Given the description of an element on the screen output the (x, y) to click on. 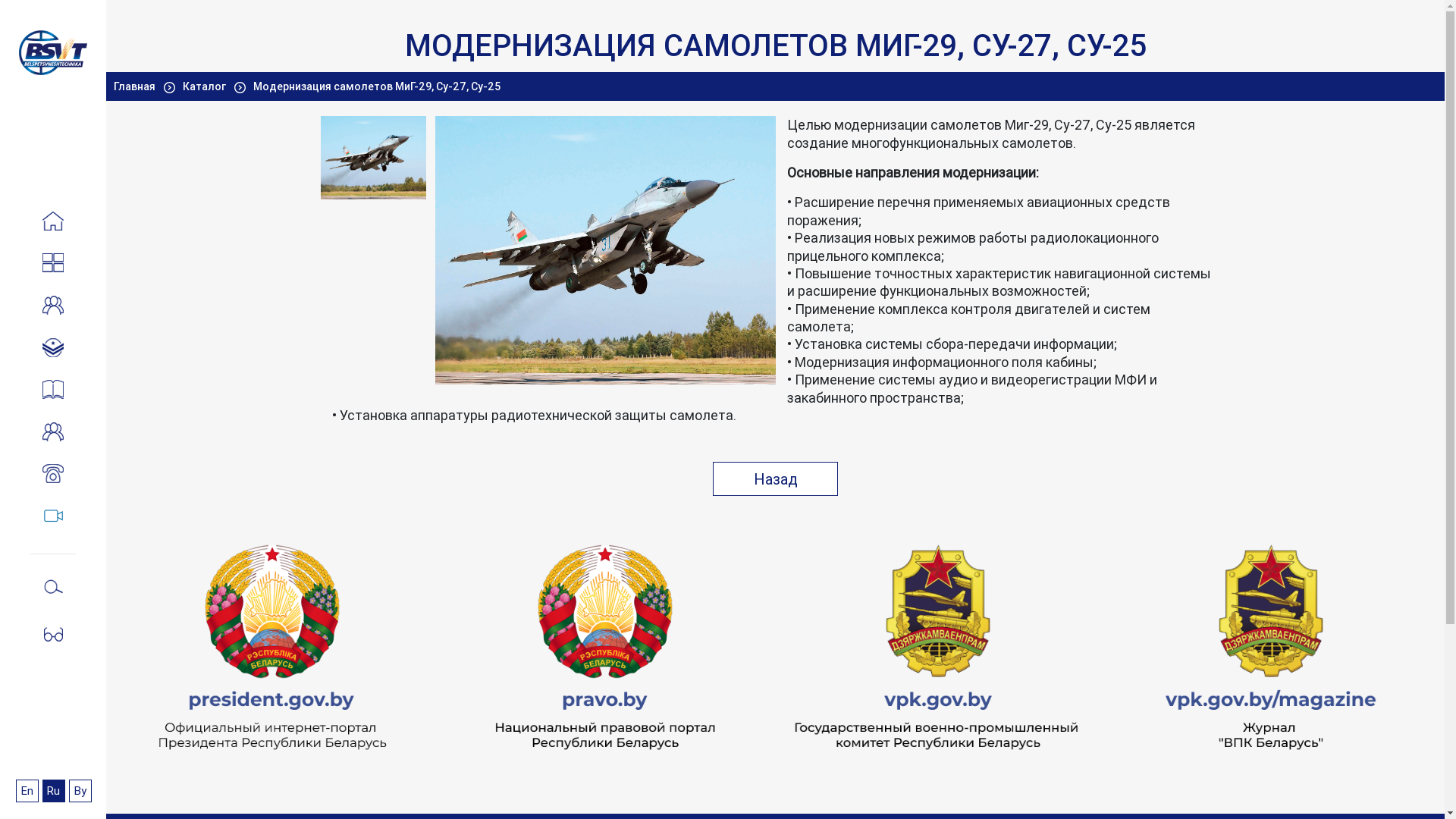
Ru Element type: text (53, 790)
By Element type: text (79, 790)
En Element type: text (26, 790)
